Given the description of an element on the screen output the (x, y) to click on. 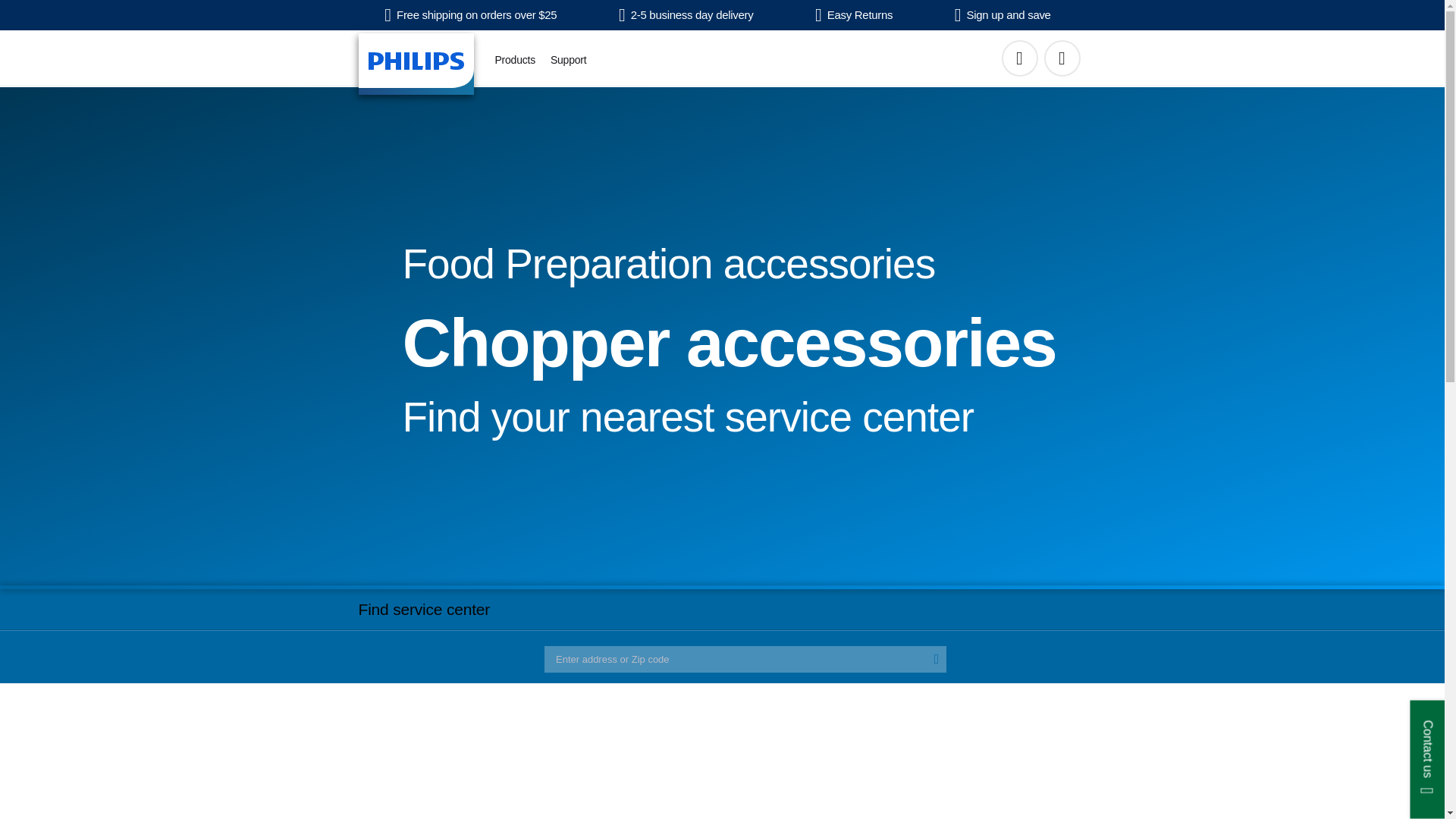
Easy Returns (853, 15)
Sign up and save (1003, 15)
Products (513, 59)
Home (415, 64)
